Given the description of an element on the screen output the (x, y) to click on. 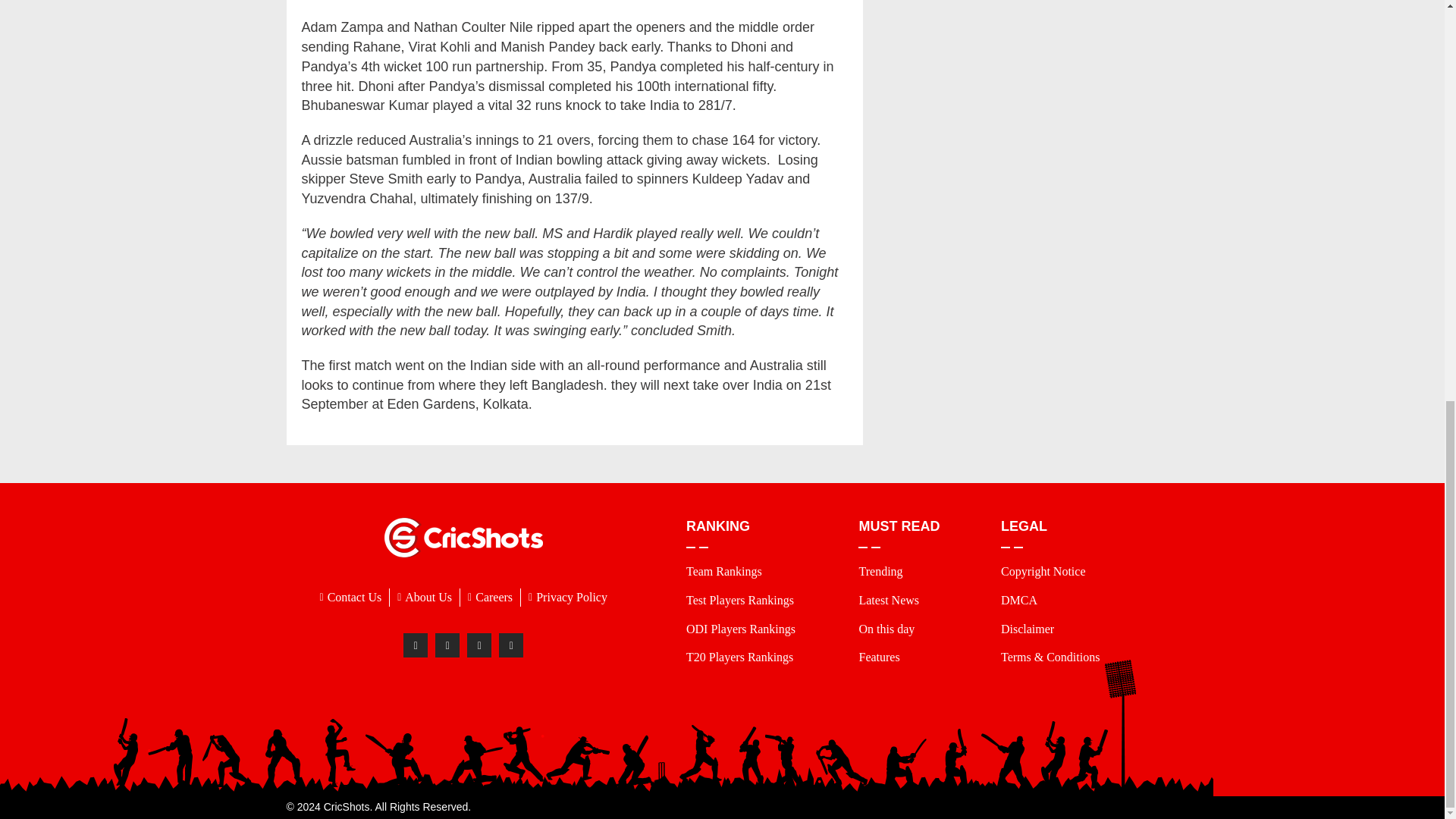
Contact Us (351, 597)
About Us (425, 597)
